Given the description of an element on the screen output the (x, y) to click on. 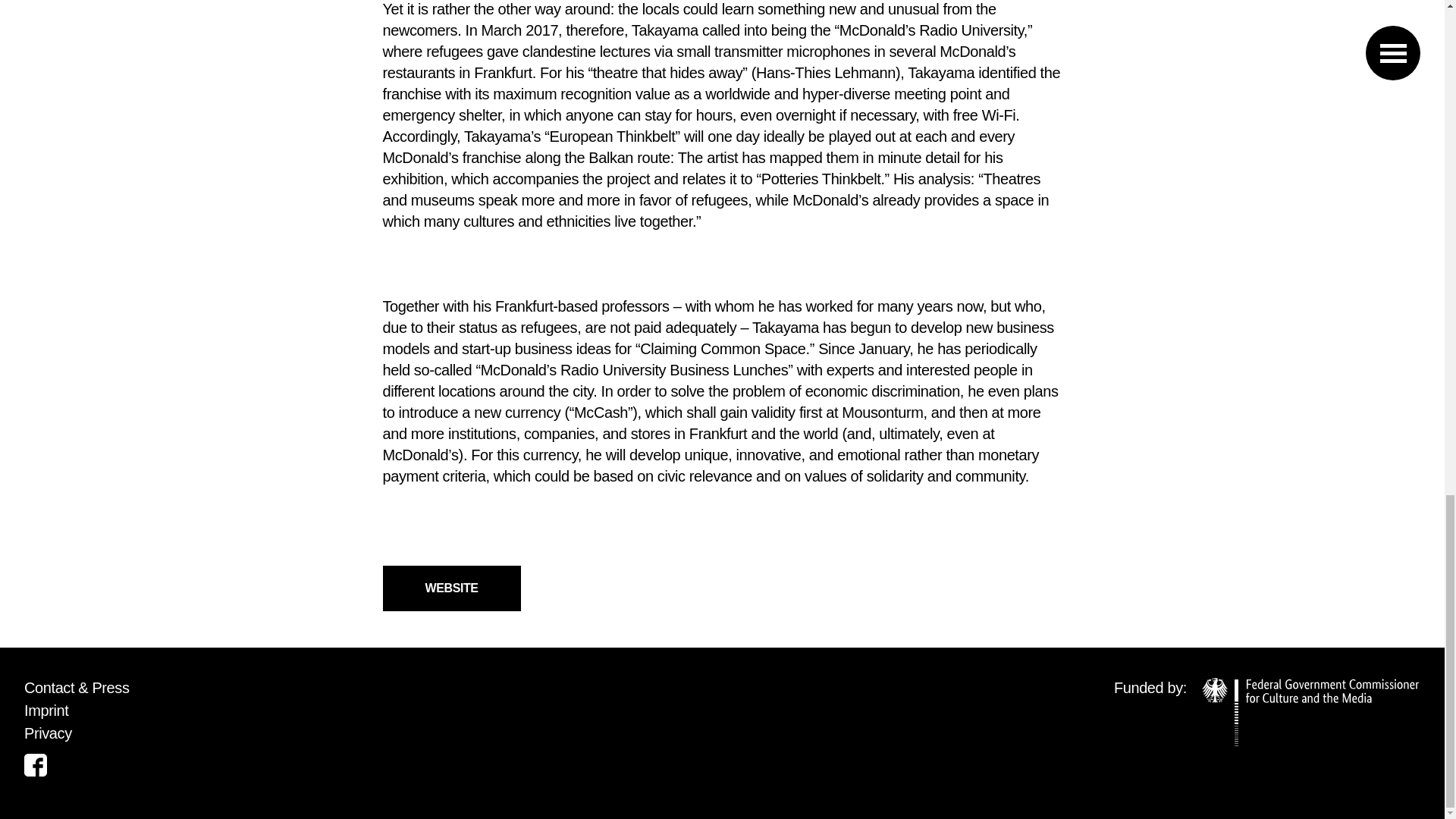
Privacy (47, 733)
WEBSITE (450, 588)
Facebook (35, 764)
Imprint (46, 710)
